Given the description of an element on the screen output the (x, y) to click on. 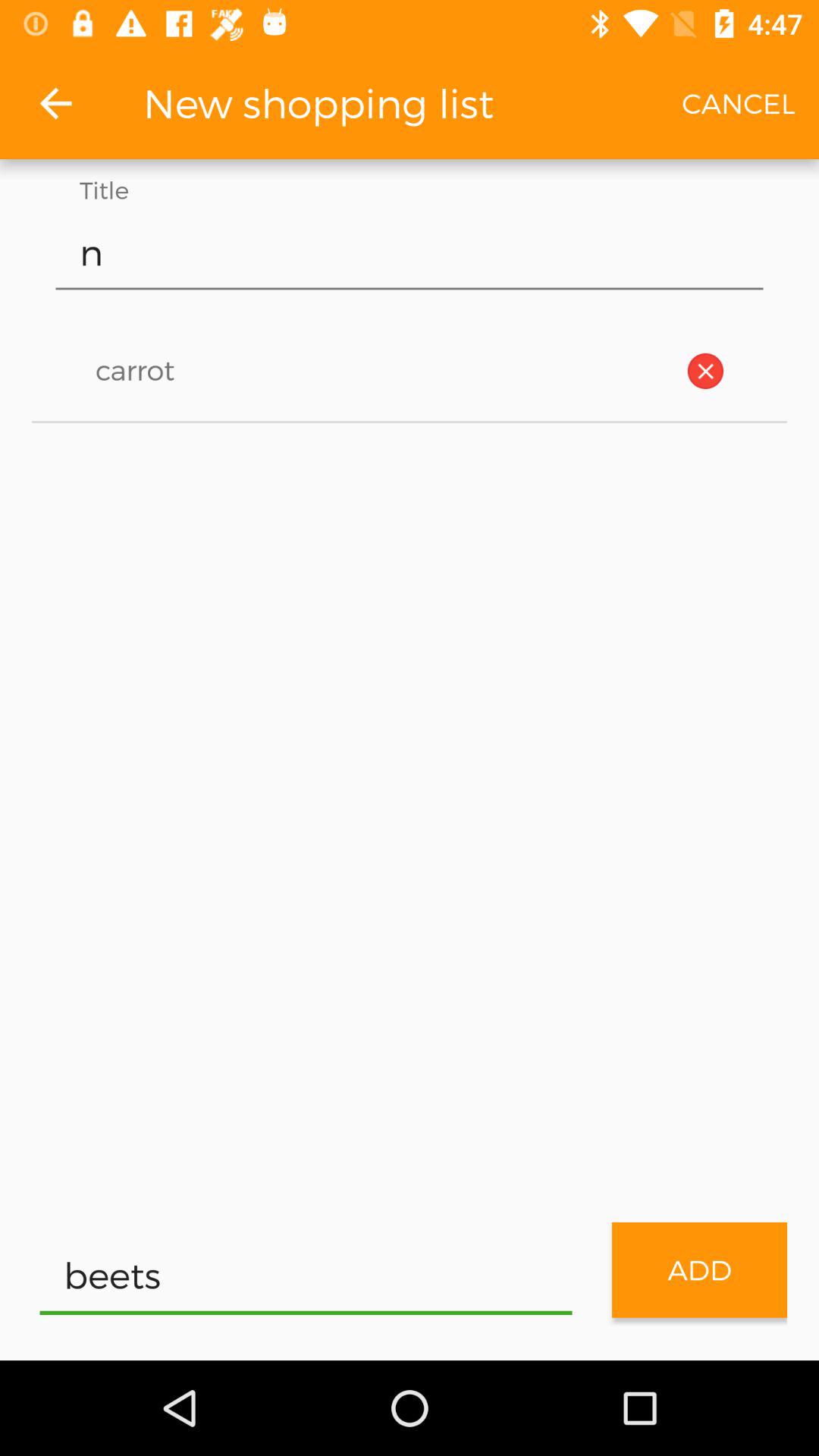
close of the app (705, 370)
